Given the description of an element on the screen output the (x, y) to click on. 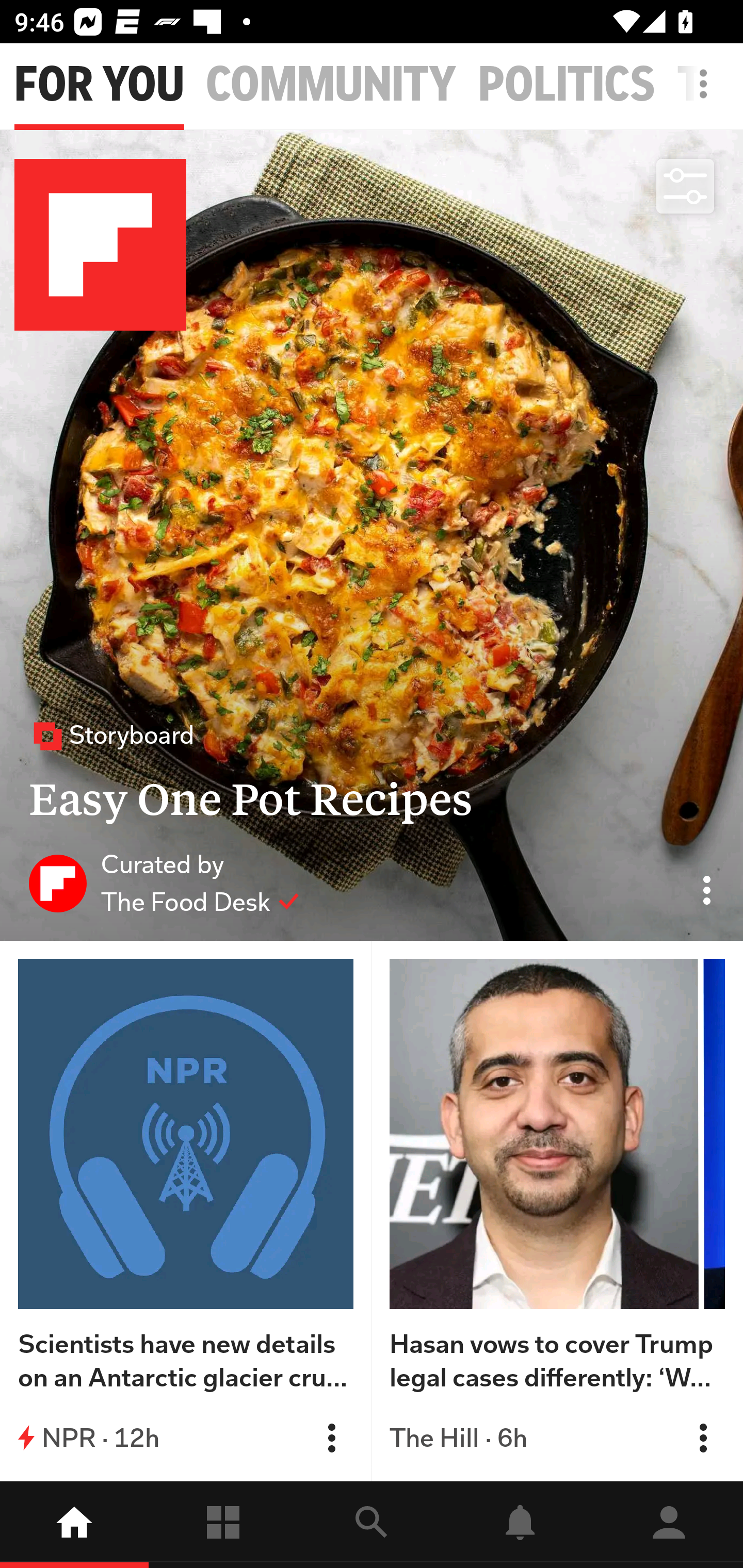
FOR YOU (99, 84)
COMMUNITY (330, 84)
POLITICS (567, 84)
More options (706, 93)
Curated by The Food Desk (163, 882)
NPR · 12h Flip into Magazine (185, 1437)
The Hill · 6h Flip into Magazine (557, 1437)
Flip into Magazine (331, 1437)
Flip into Magazine (703, 1437)
home (74, 1524)
Following (222, 1524)
explore (371, 1524)
Notifications (519, 1524)
Profile (668, 1524)
